Given the description of an element on the screen output the (x, y) to click on. 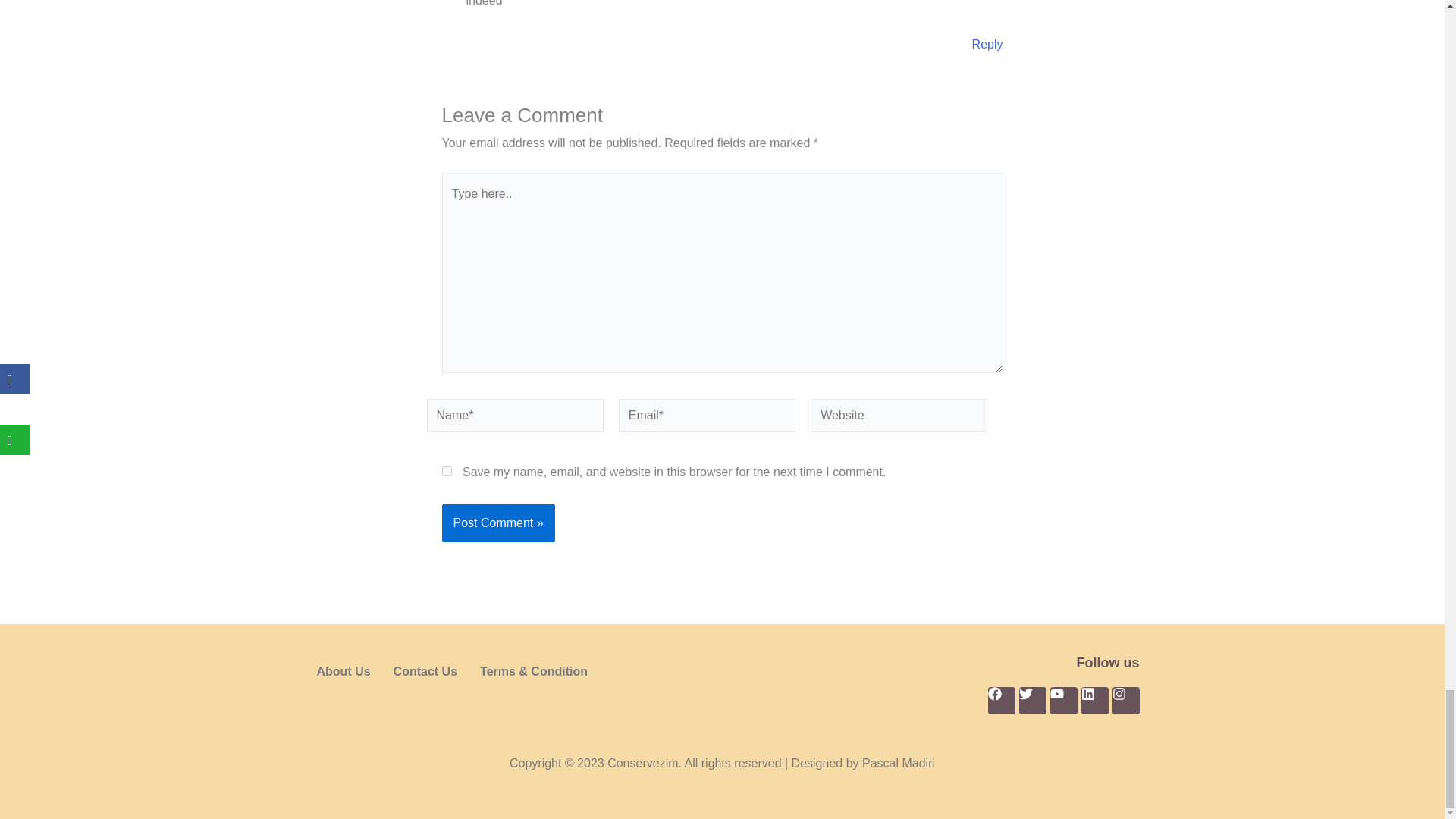
Linkedin (1094, 700)
yes (446, 470)
Twitter (1032, 700)
Youtube (1063, 700)
Facebook (1000, 700)
Instagram (1125, 700)
Reply (987, 43)
Contact Us (424, 671)
About Us (342, 671)
